Given the description of an element on the screen output the (x, y) to click on. 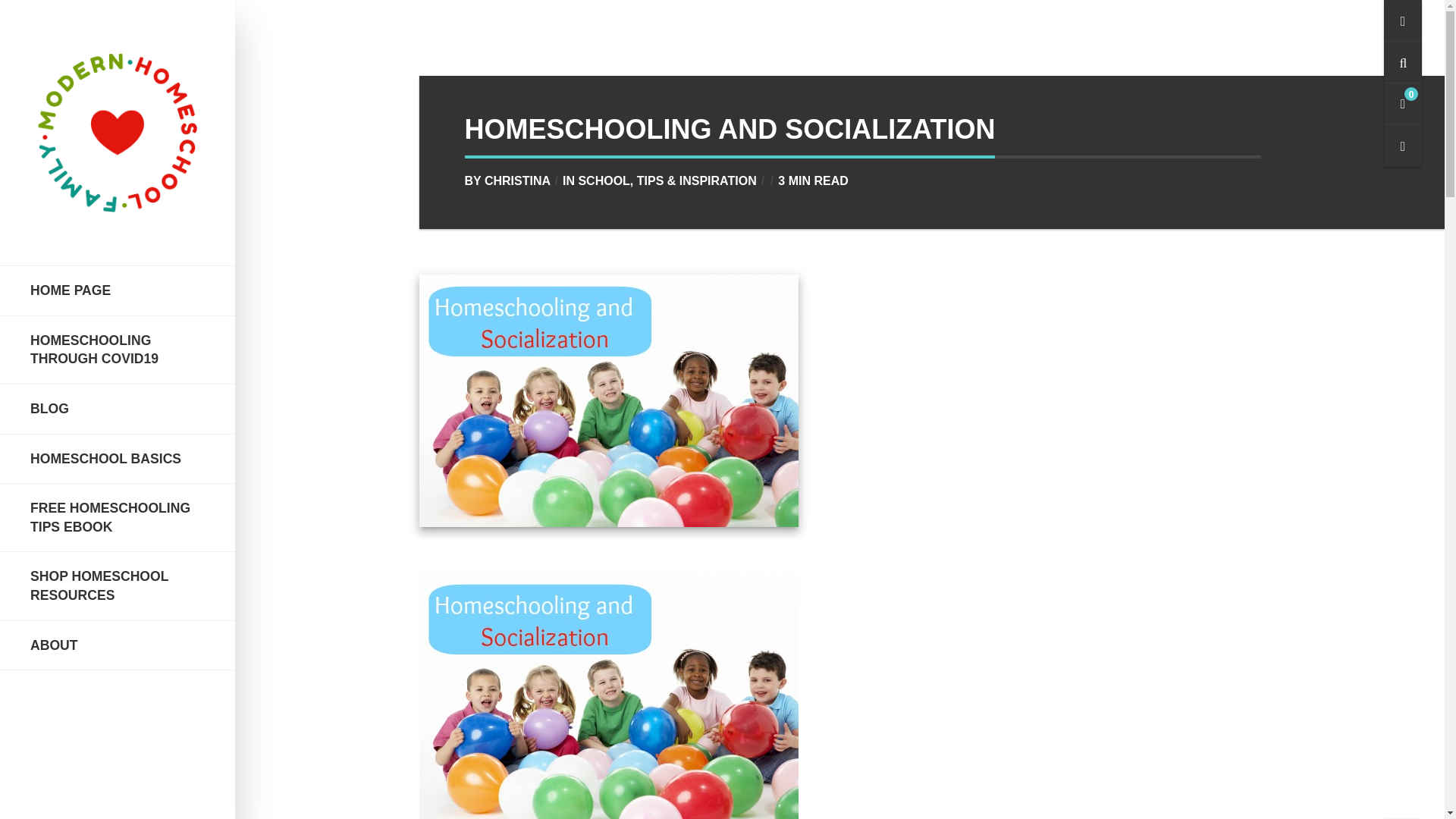
CHRISTINA (517, 180)
HOME PAGE (117, 290)
SCHOOL (603, 180)
HOMESCHOOL BASICS (117, 457)
ABOUT (117, 645)
SHOP HOMESCHOOL RESOURCES (117, 585)
HOMESCHOOLING THROUGH COVID19 (117, 349)
BLOG (117, 408)
0 (1403, 104)
FREE HOMESCHOOLING TIPS EBOOK (117, 517)
